Given the description of an element on the screen output the (x, y) to click on. 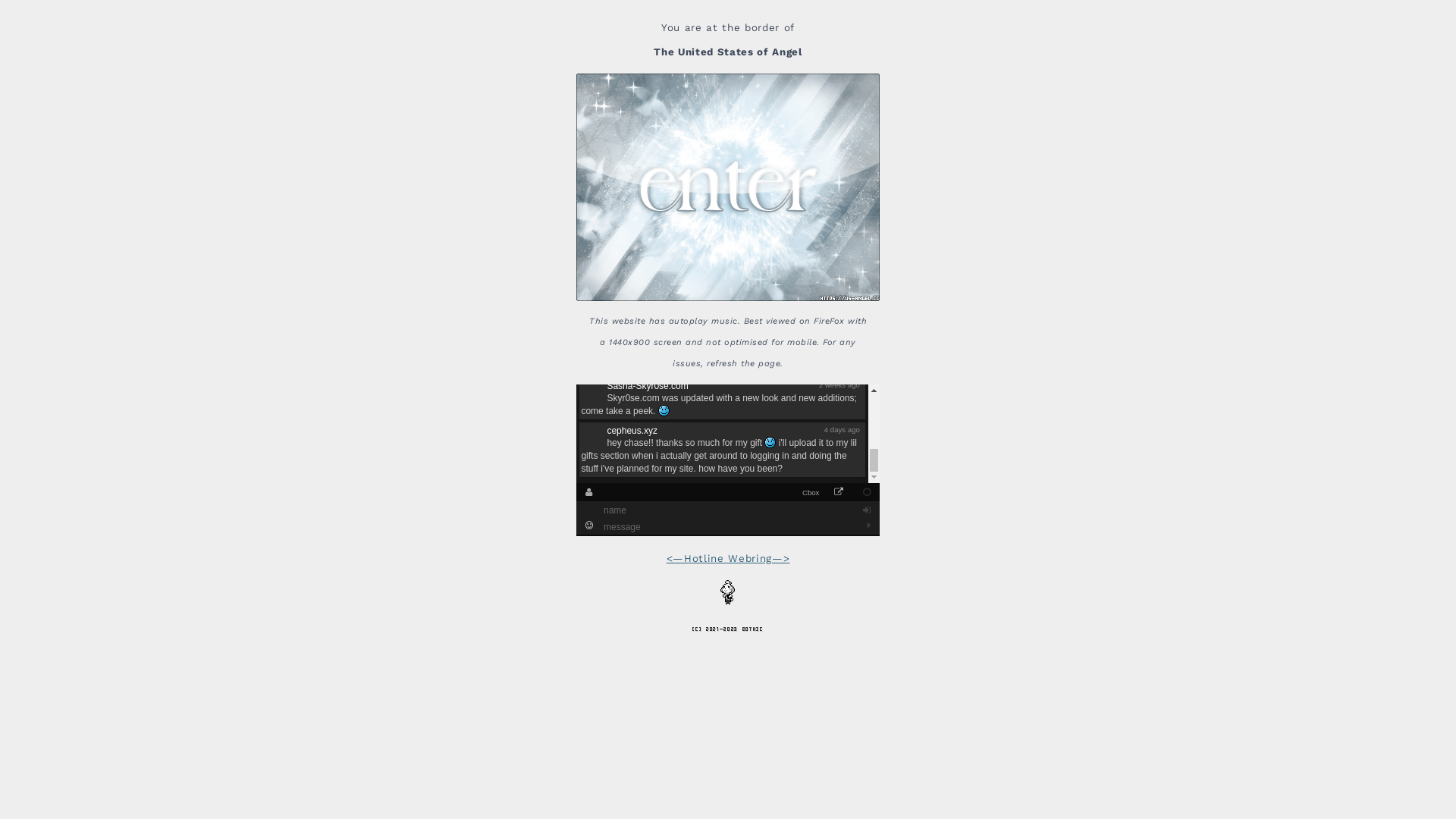
Hotline Webring Element type: text (727, 558)
pixel friends | Isabelle Element type: hover (727, 592)
